Given the description of an element on the screen output the (x, y) to click on. 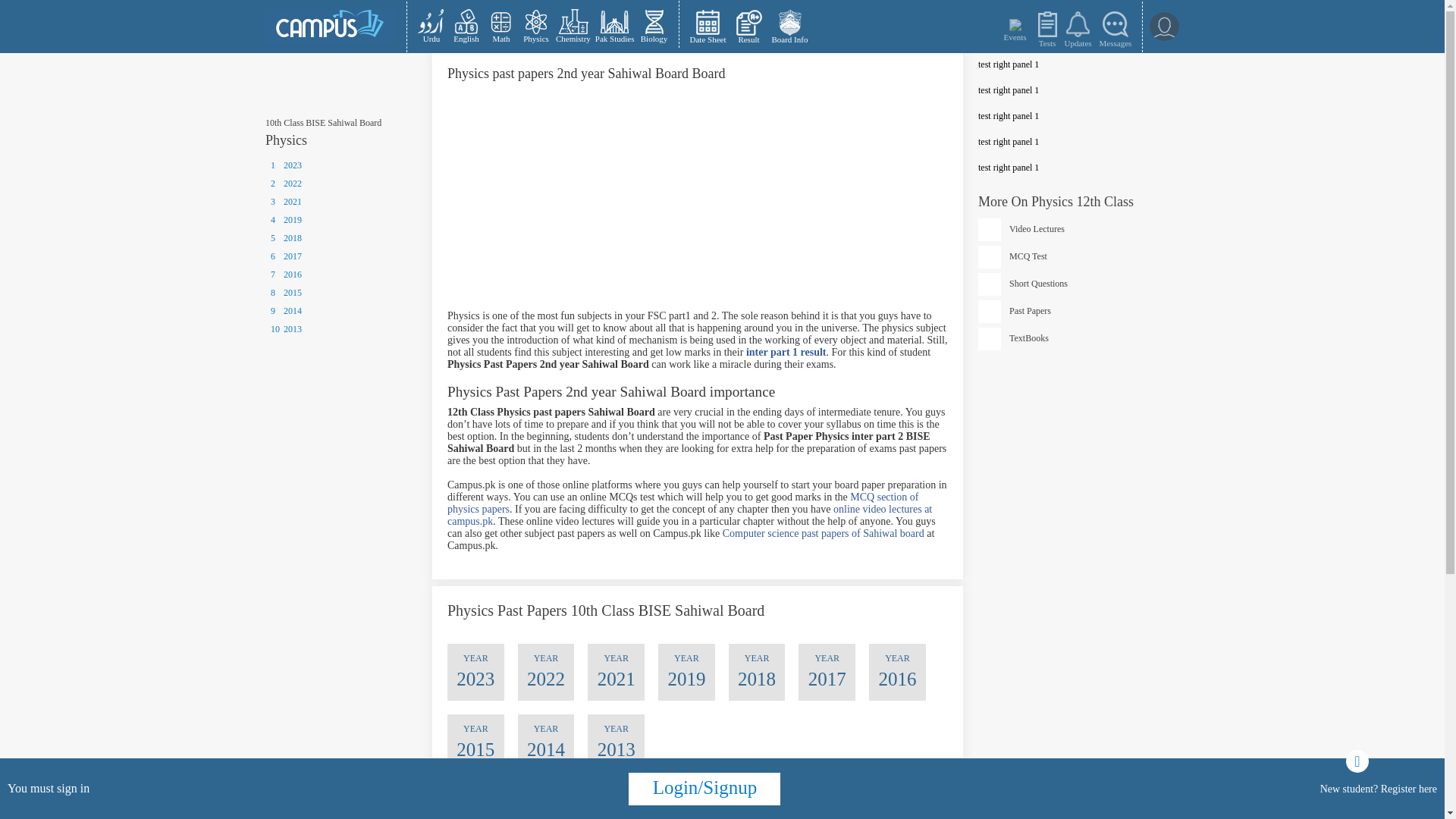
Advertisement (697, 203)
Pak Studies (614, 25)
Register here (1408, 787)
